Given the description of an element on the screen output the (x, y) to click on. 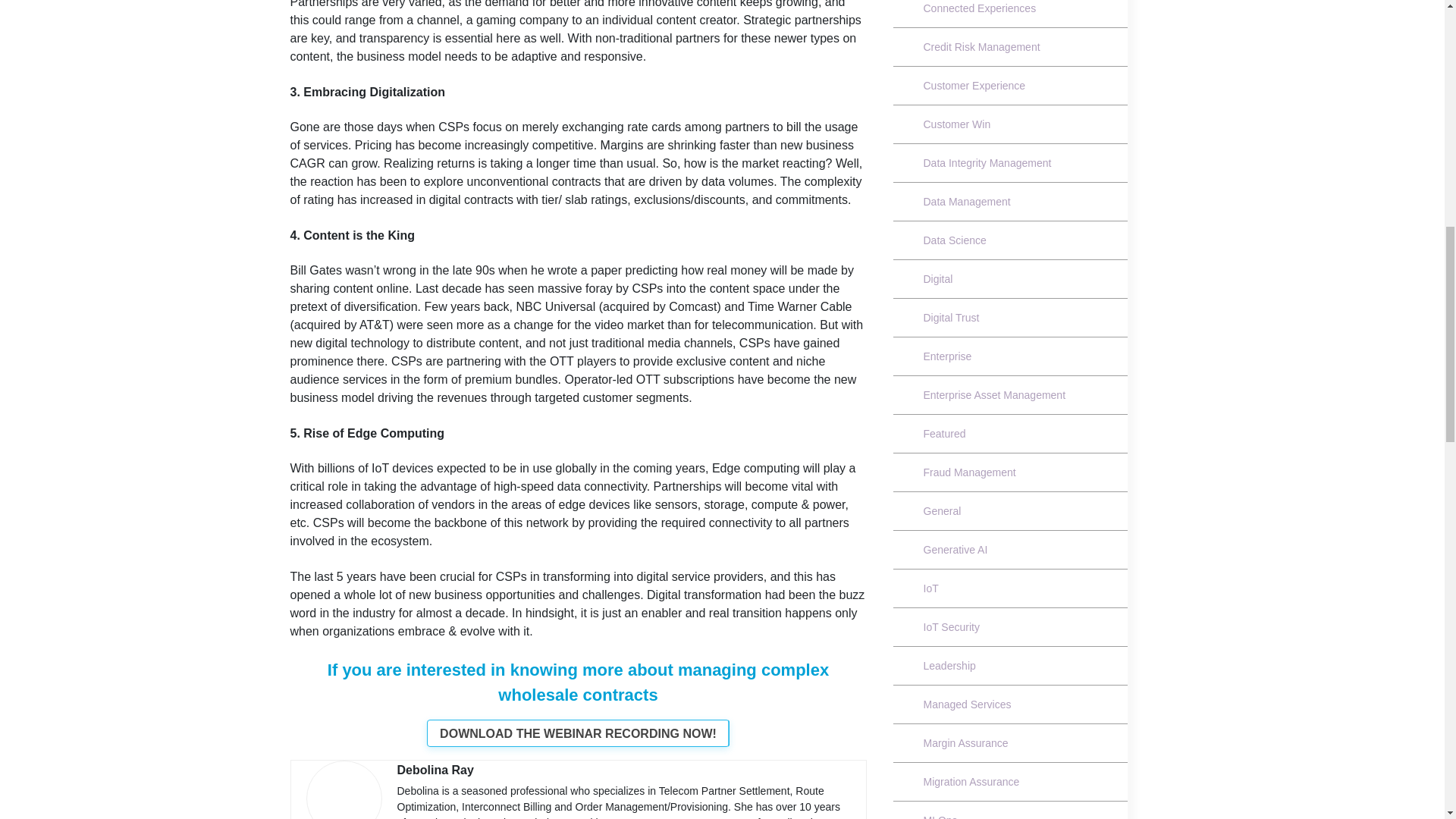
Debolina Ray (435, 769)
Digital (938, 278)
Data Science (954, 240)
Data Integrity Management (987, 162)
Connected Experiences (980, 8)
Data Management (967, 201)
Customer Win (957, 123)
DOWNLOAD THE WEBINAR RECORDING NOW! (577, 732)
Digital Trust (951, 317)
Enterprise Asset Management (994, 395)
